Given the description of an element on the screen output the (x, y) to click on. 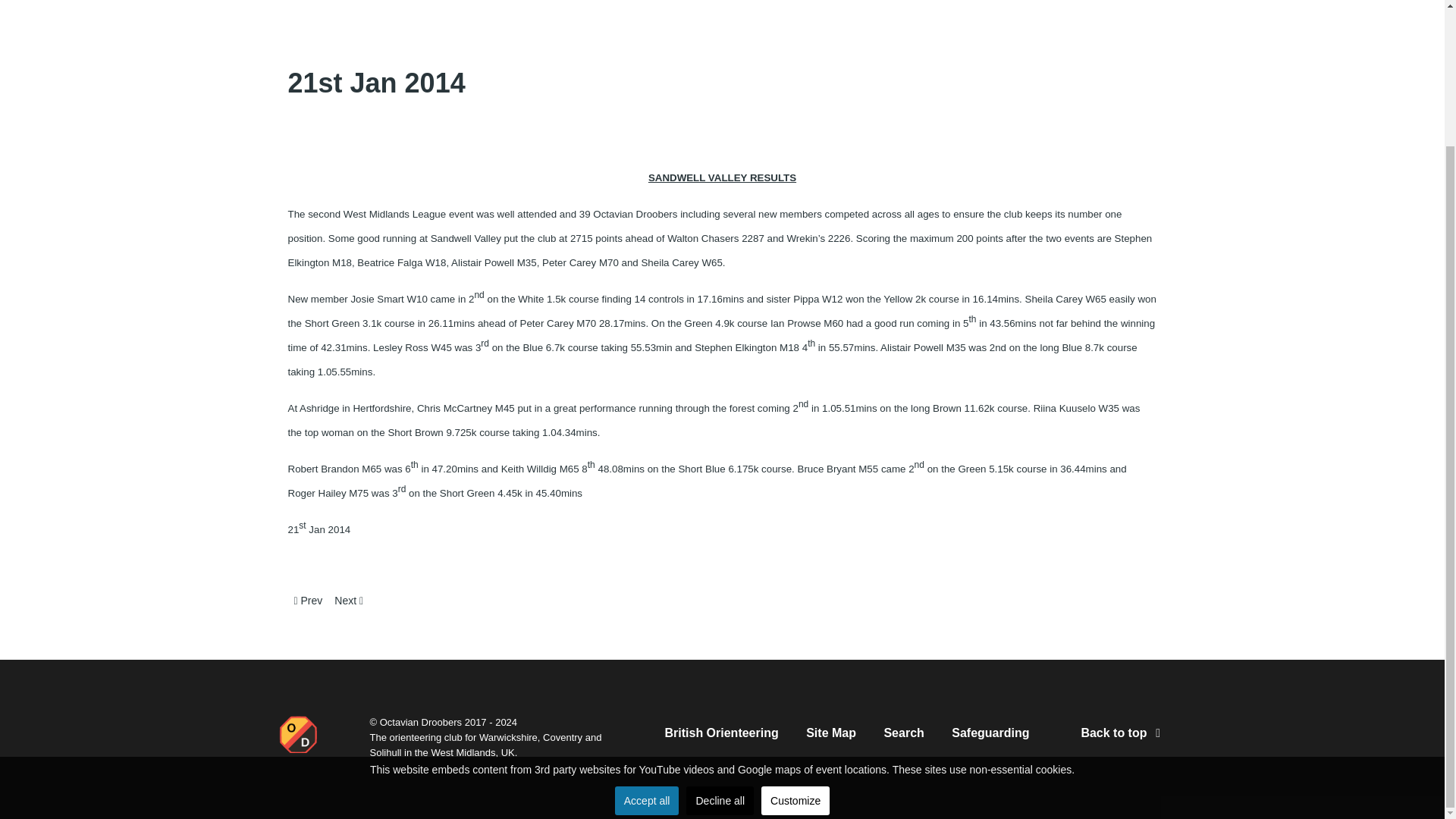
Back to top (1123, 732)
British Orienteering (720, 736)
Safeguarding (990, 736)
Search (903, 736)
Site Map (831, 736)
